Given the description of an element on the screen output the (x, y) to click on. 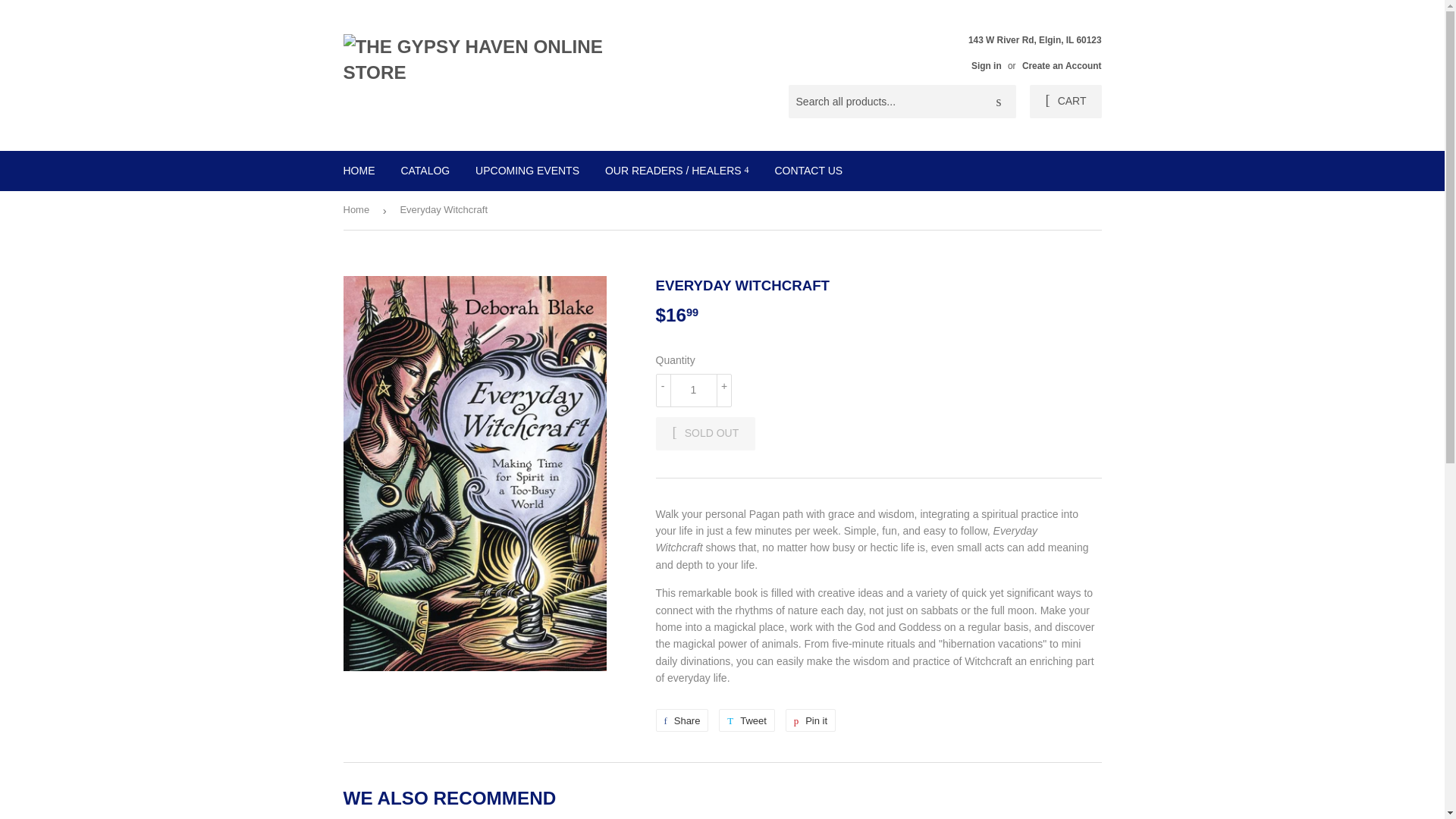
Sign in (986, 65)
143 W River Rd, Elgin, IL 60123 (1029, 52)
SOLD OUT (705, 433)
UPCOMING EVENTS (527, 170)
Search (998, 101)
CATALOG (424, 170)
CONTACT US (807, 170)
Tweet on Twitter (681, 720)
CART (746, 720)
